Given the description of an element on the screen output the (x, y) to click on. 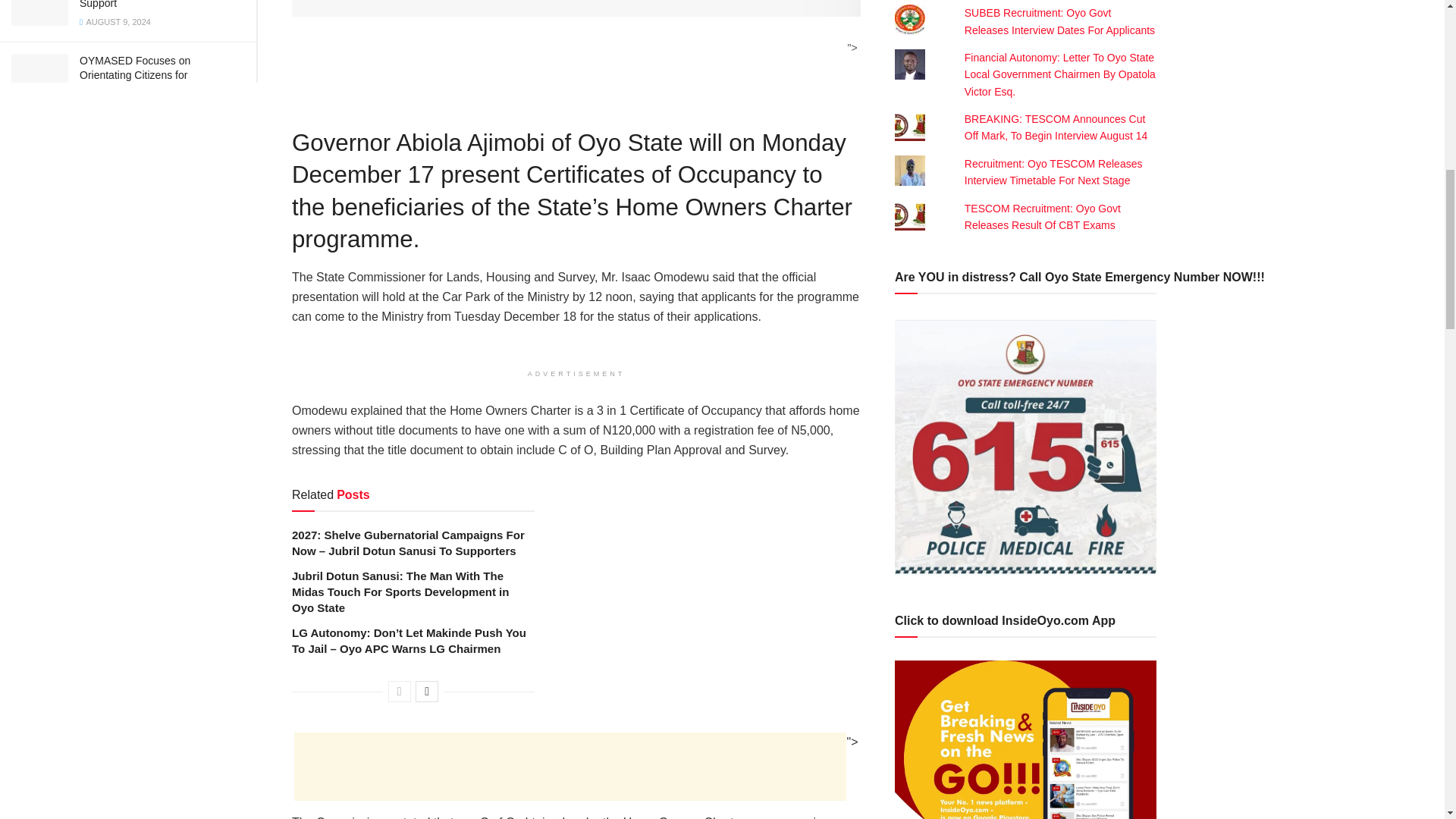
Next (426, 690)
Previous (399, 690)
